Given the description of an element on the screen output the (x, y) to click on. 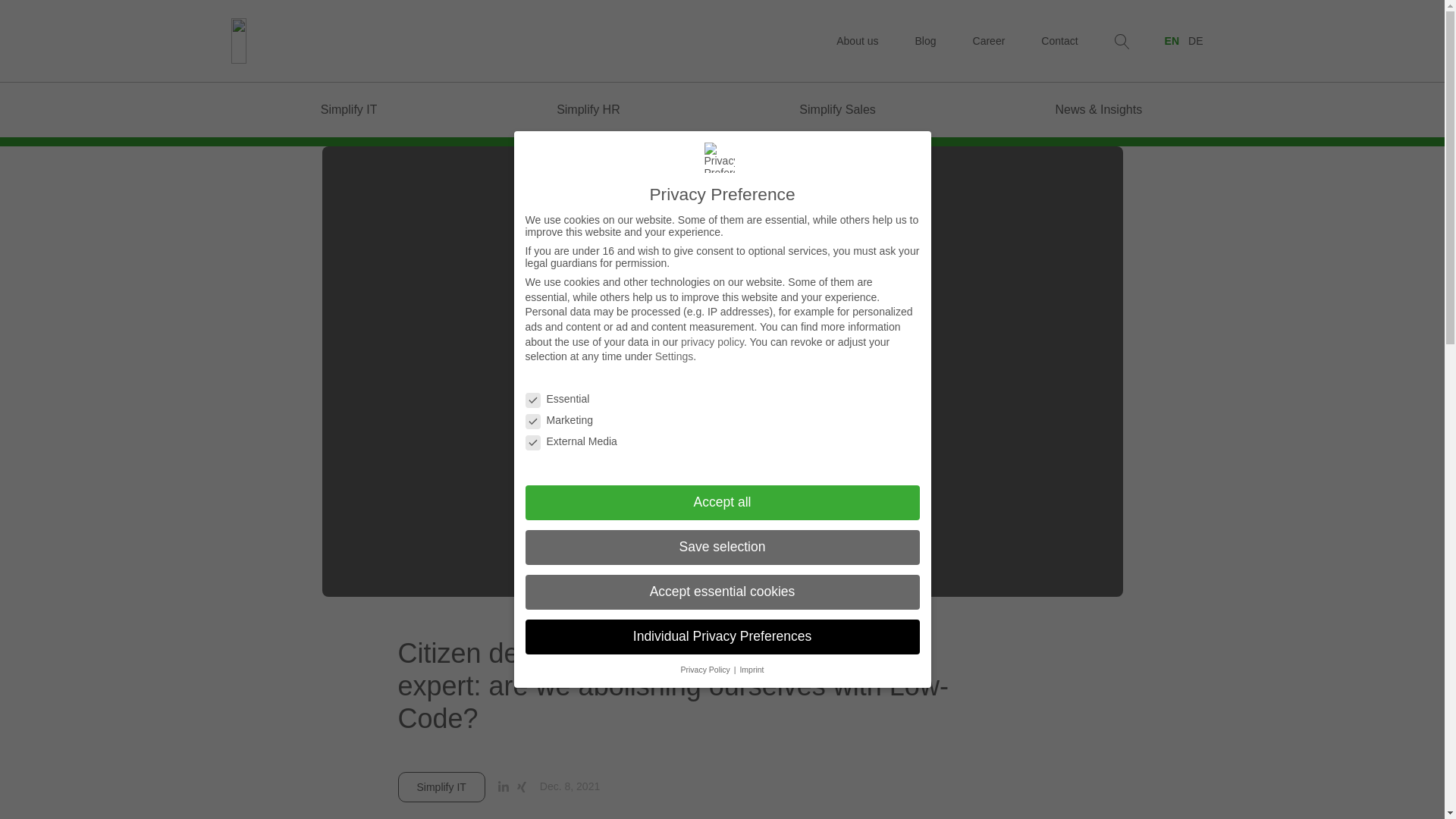
sovanta AG (267, 39)
1 (668, 406)
Share (503, 787)
Share (521, 787)
About us (857, 41)
Simplify HR (579, 109)
Blog (925, 41)
Toggle Search (1122, 40)
Simplify IT (339, 109)
Contact (1059, 41)
